Given the description of an element on the screen output the (x, y) to click on. 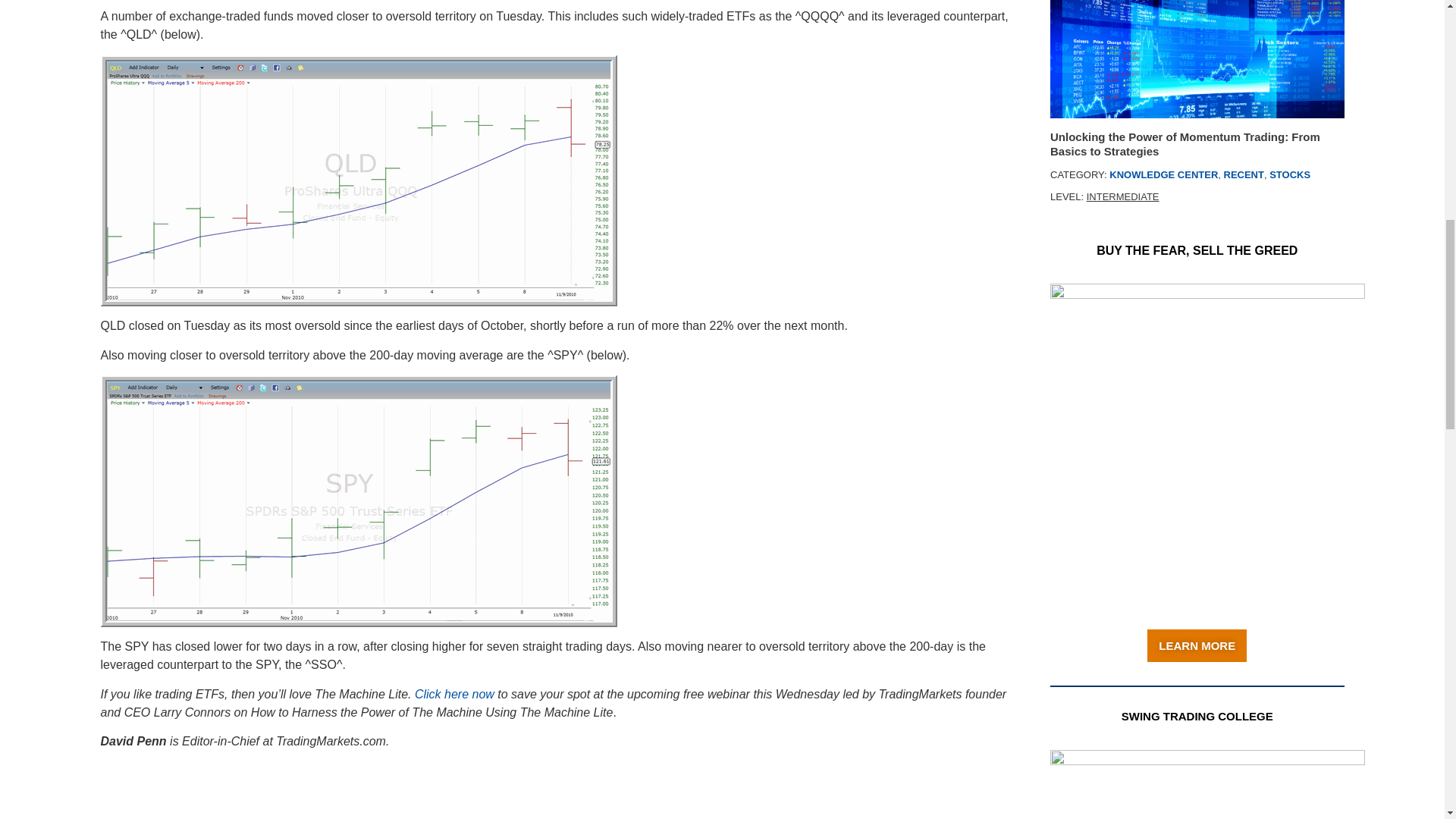
Click here now (454, 694)
